Given the description of an element on the screen output the (x, y) to click on. 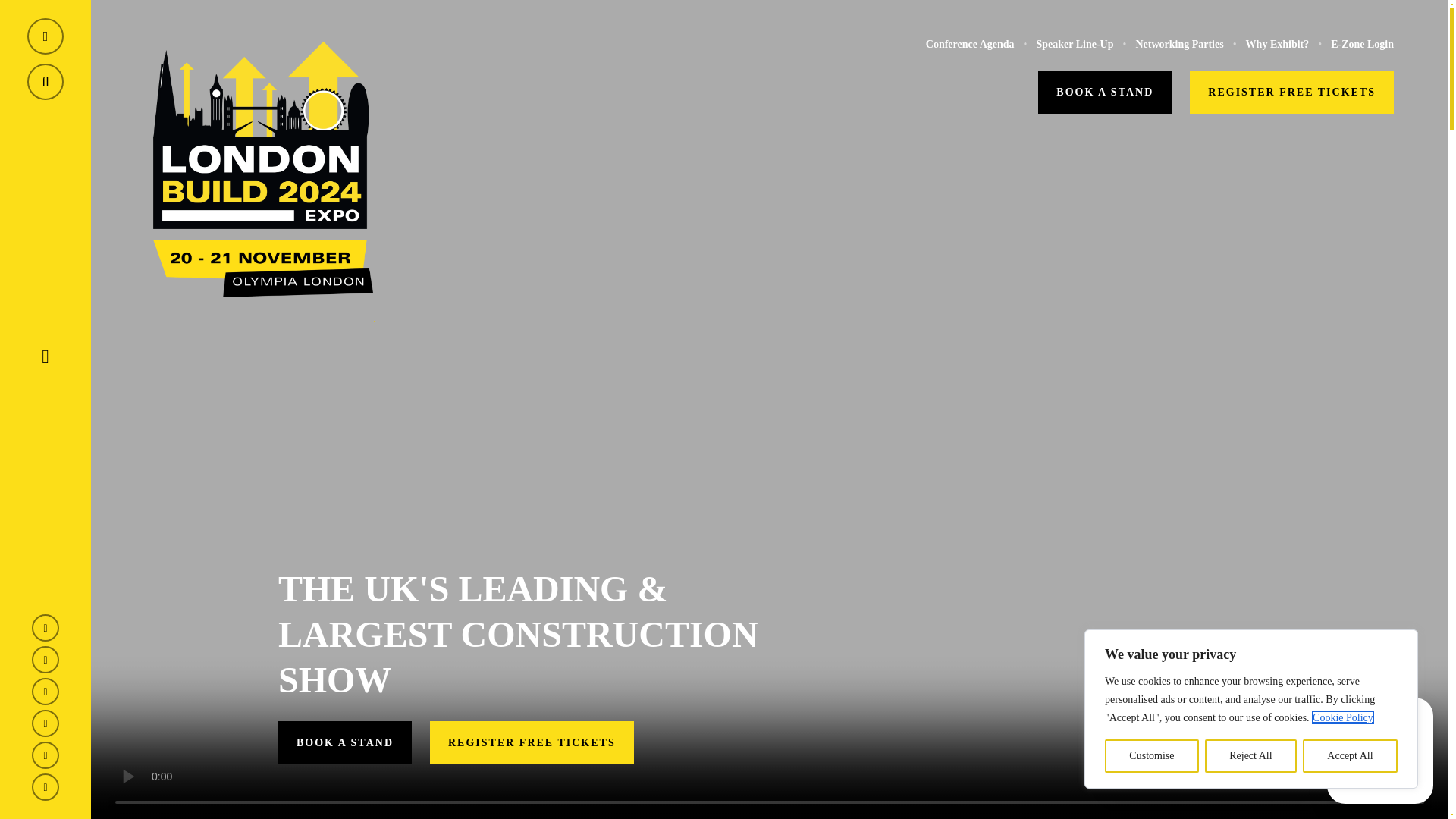
Cookie Policy (1342, 717)
Accept All (1350, 756)
Customise (1151, 756)
Reject All (1251, 756)
